Given the description of an element on the screen output the (x, y) to click on. 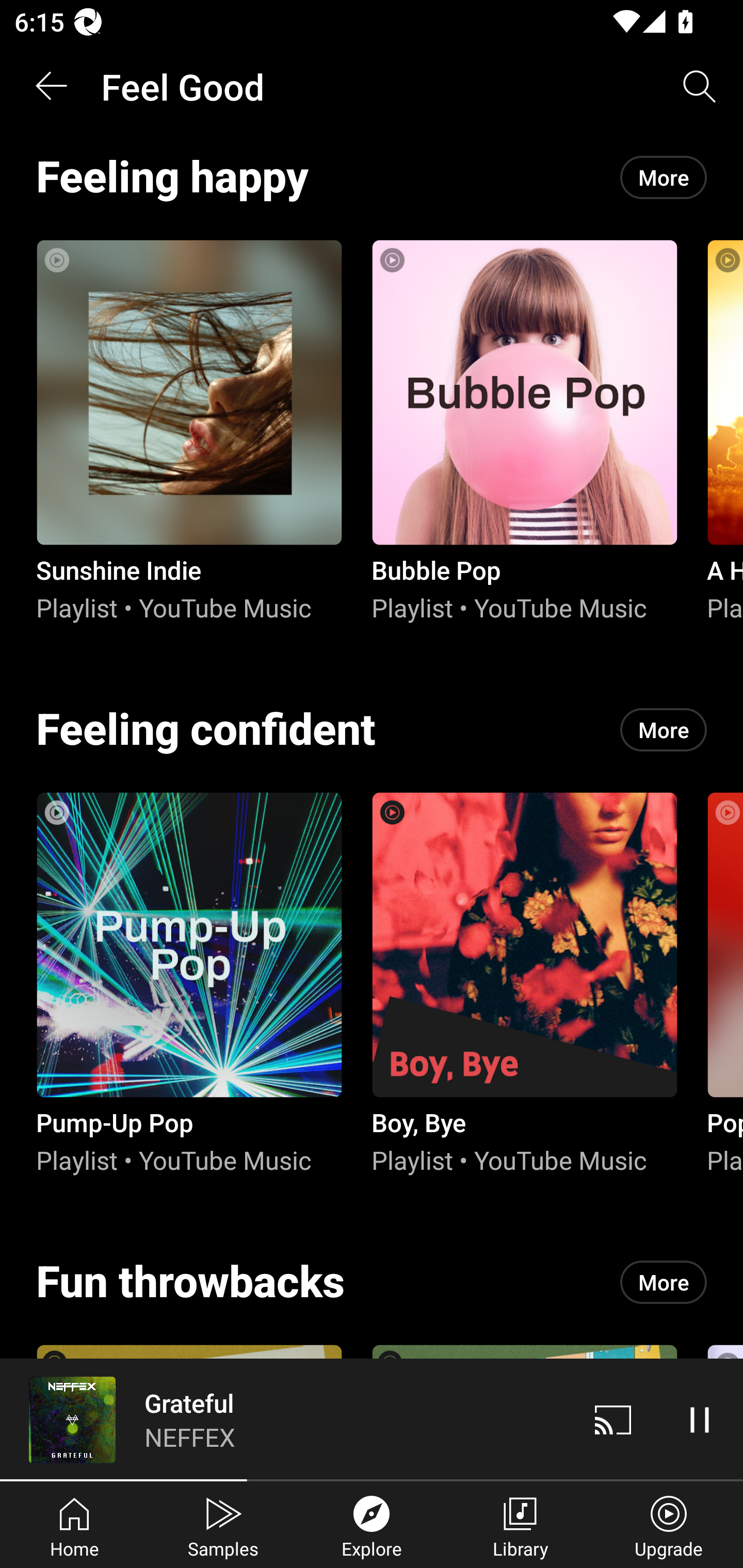
Back (50, 86)
Search (699, 86)
Feeling happy Feeling happy More More (371, 177)
More (663, 177)
Feeling confident Feeling confident More More (371, 730)
More (663, 729)
Fun throwbacks Fun throwbacks More More (371, 1282)
More (663, 1282)
Grateful NEFFEX (284, 1419)
Cast. Disconnected (612, 1419)
Pause video (699, 1419)
Home (74, 1524)
Samples (222, 1524)
Library (519, 1524)
Upgrade (668, 1524)
